Given the description of an element on the screen output the (x, y) to click on. 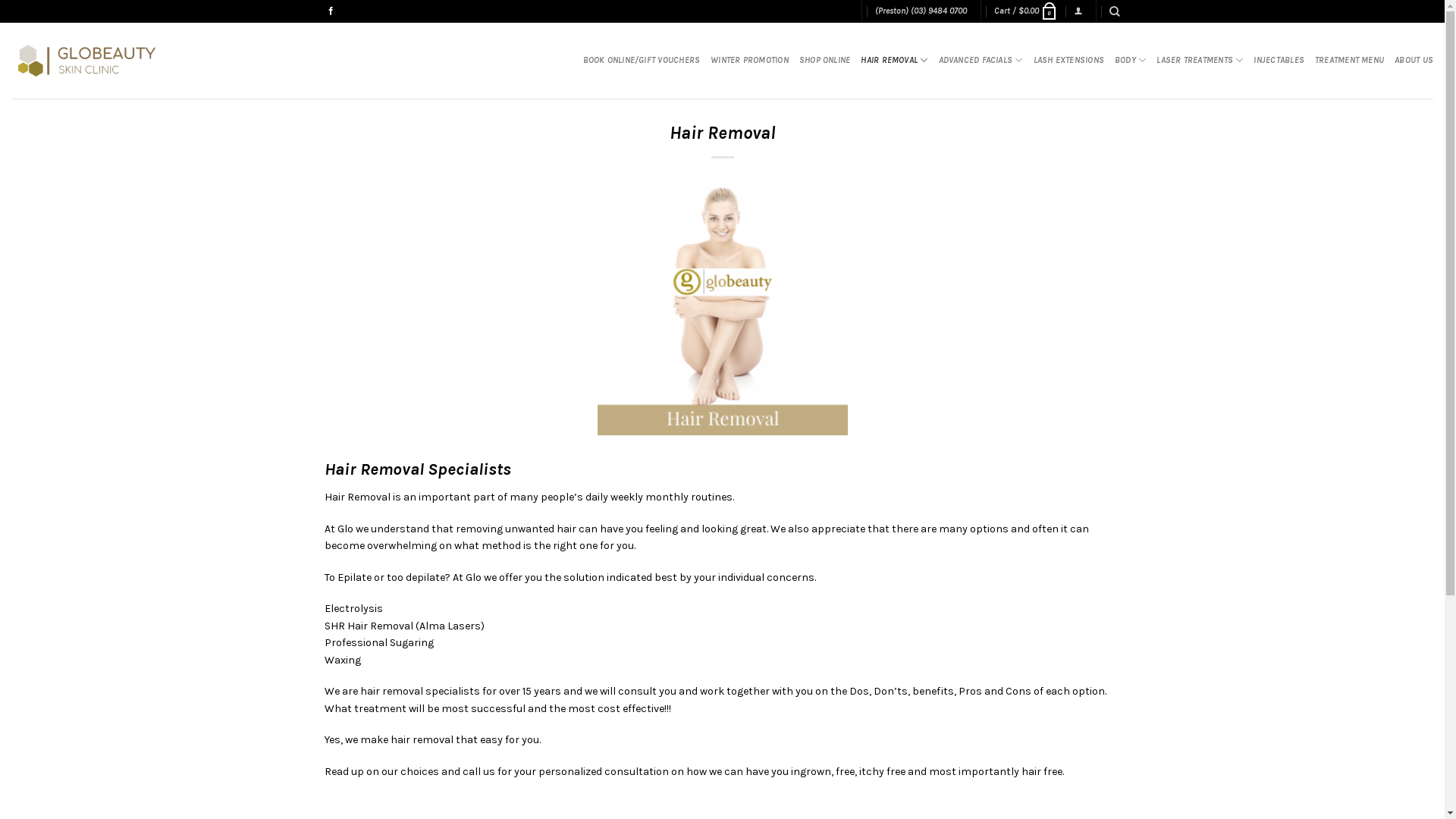
TREATMENT MENU Element type: text (1348, 60)
HAIR REMOVAL Element type: text (893, 60)
INJECTABLES Element type: text (1278, 60)
BOOK ONLINE/GIFT VOUCHERS Element type: text (640, 60)
LASER TREATMENTS Element type: text (1199, 60)
BODY Element type: text (1129, 60)
Cart / $0.00
0 Element type: text (1026, 10)
(Preston) (03) 9484 0700 Element type: text (920, 10)
ADVANCED FACIALS Element type: text (980, 60)
LASH EXTENSIONS Element type: text (1068, 60)
Follow on Facebook Element type: hover (330, 10)
SHOP ONLINE Element type: text (824, 60)
WINTER PROMOTION Element type: text (749, 60)
ABOUT US Element type: text (1413, 60)
